Given the description of an element on the screen output the (x, y) to click on. 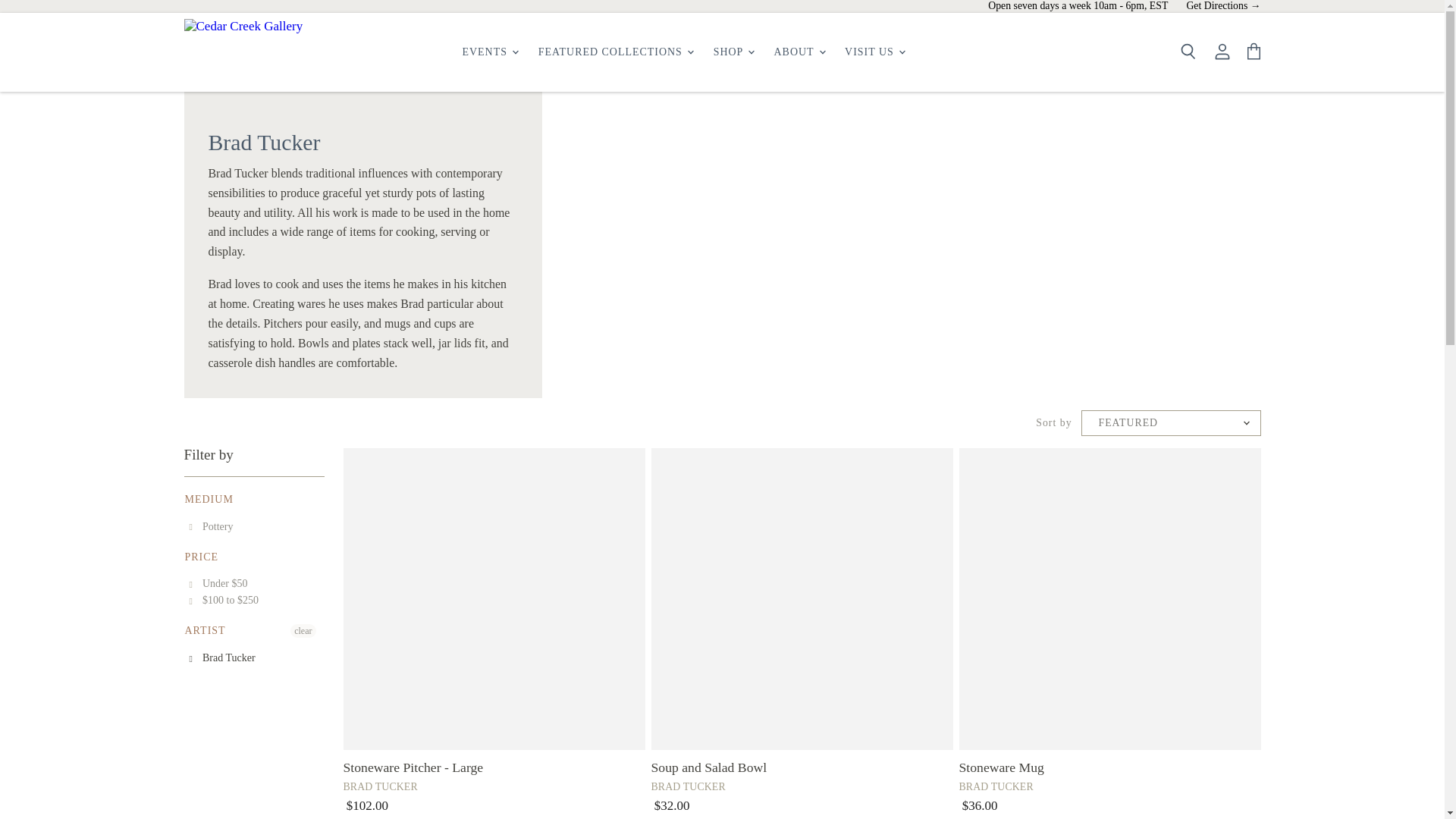
SHOP (732, 51)
Brad Tucker (253, 658)
Open seven days a week 10am - 6pm, EST (1077, 6)
Clear filter:  Brad Tucker (222, 658)
Pottery (253, 526)
Add filter:  Pottery (210, 526)
EVENTS (488, 51)
FEATURED COLLECTIONS (615, 51)
